Given the description of an element on the screen output the (x, y) to click on. 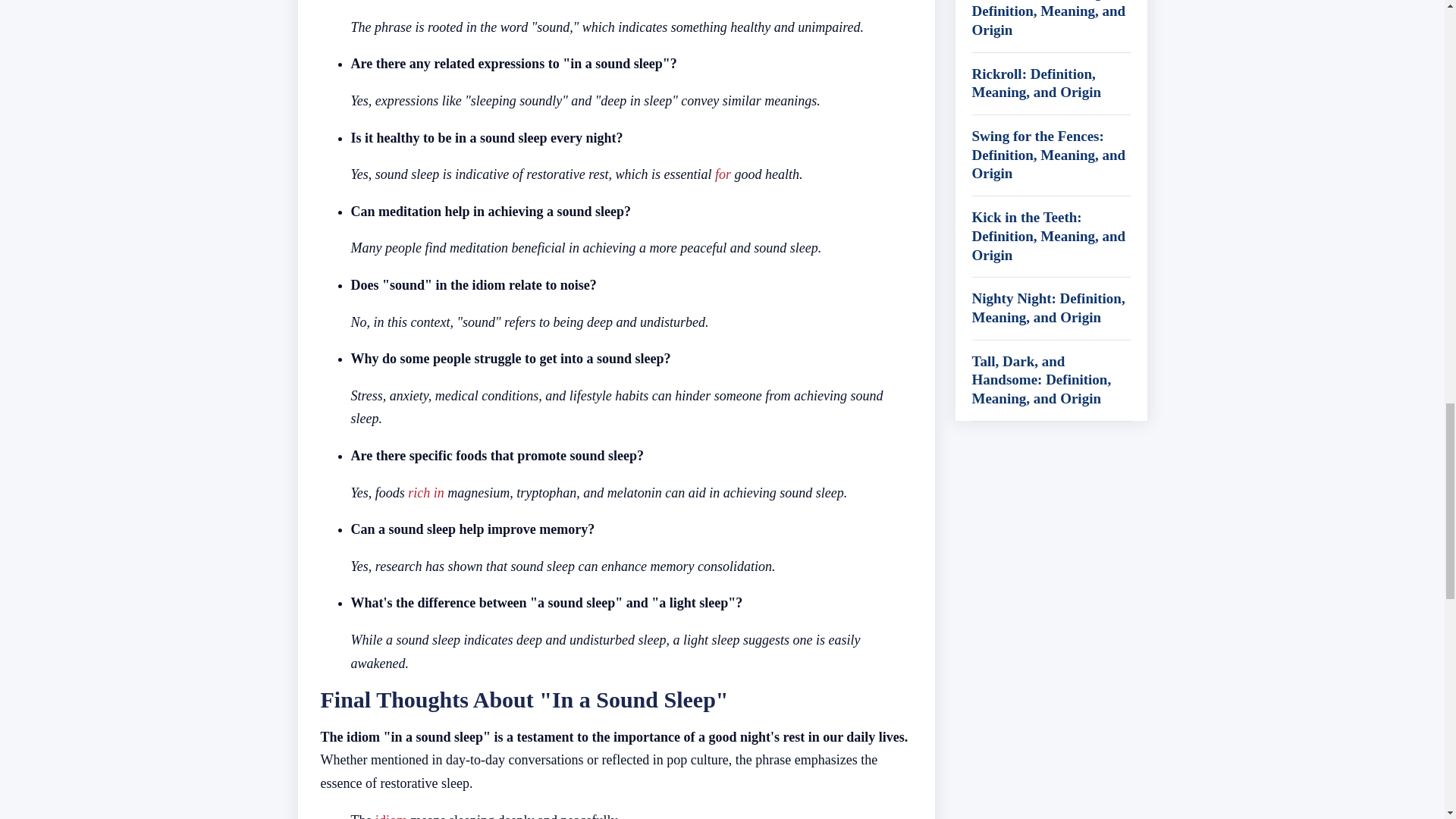
idiom (391, 816)
for (722, 174)
rich in (425, 492)
